Given the description of an element on the screen output the (x, y) to click on. 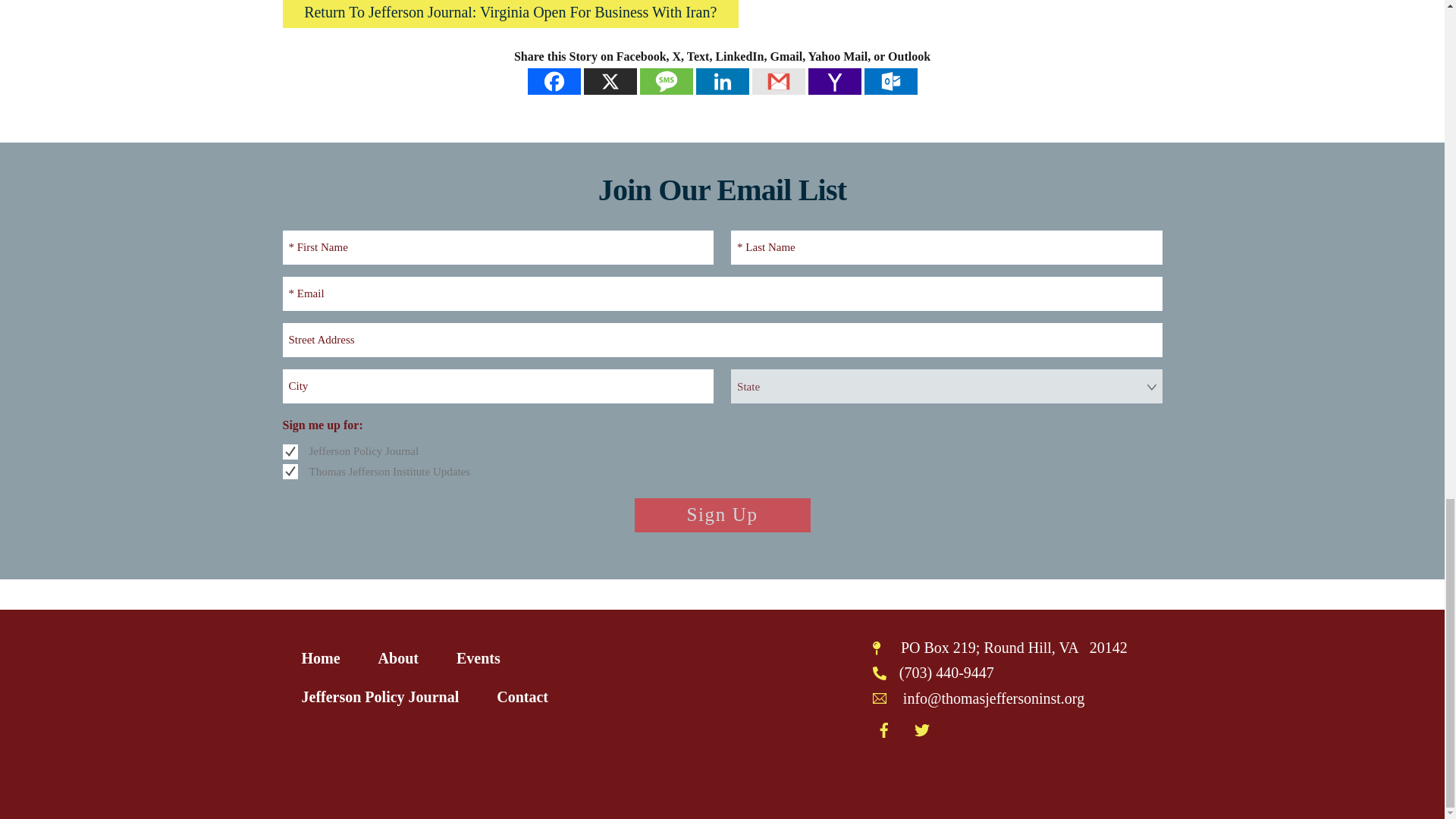
Google Gmail (778, 81)
Thomas Jefferson Institute Updates (289, 471)
Linkedin (722, 81)
Home About Events Jefferson Policy Journal Contact (428, 676)
Facebook (553, 81)
X (610, 81)
Jefferson Policy Journal (289, 451)
SMS (666, 81)
Sign Up (721, 514)
